Given the description of an element on the screen output the (x, y) to click on. 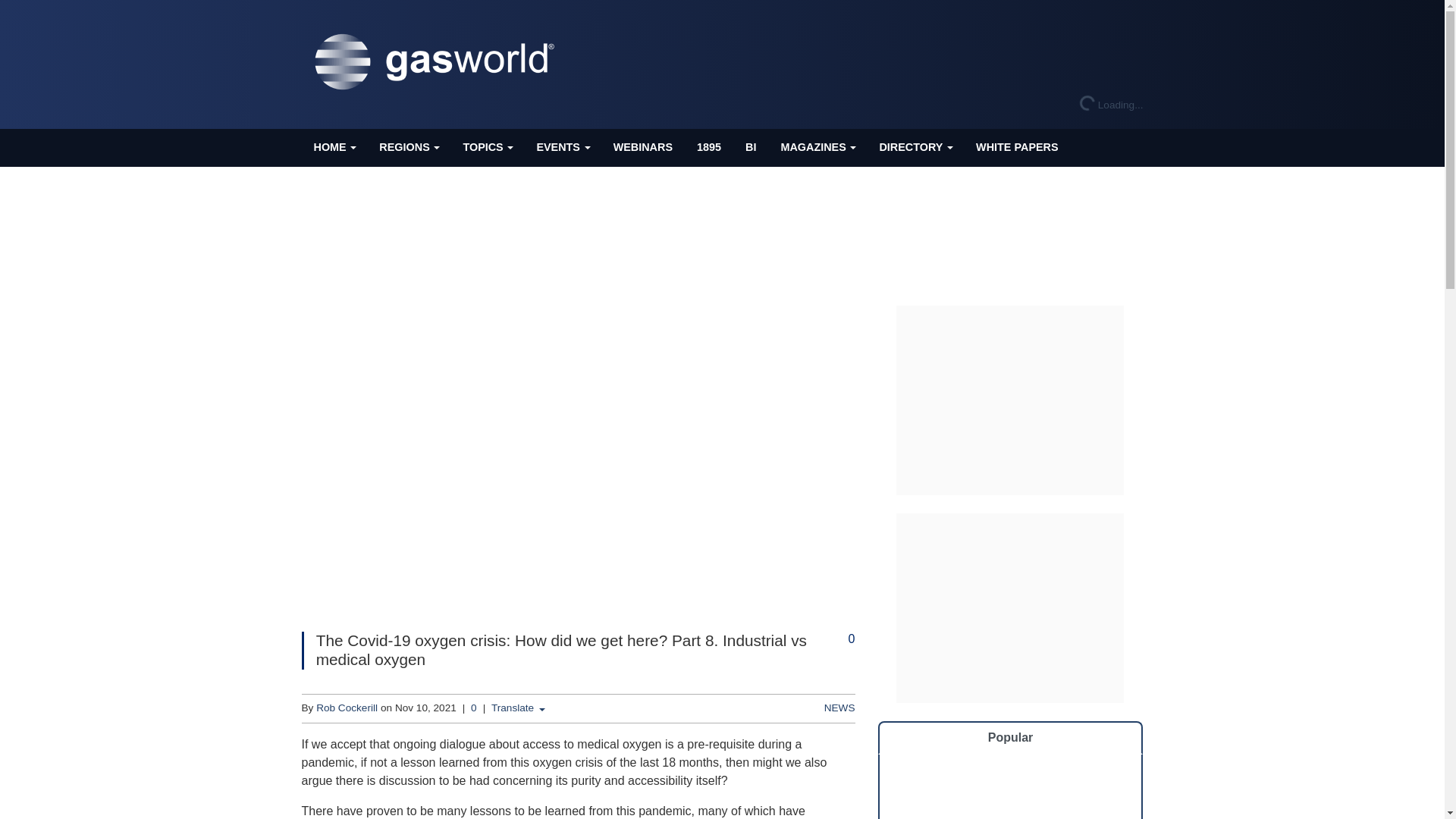
HOME (334, 146)
Regions (407, 146)
Topics (486, 146)
Home (334, 146)
gasworld (438, 62)
TOPICS (486, 146)
REGIONS (407, 146)
